Given the description of an element on the screen output the (x, y) to click on. 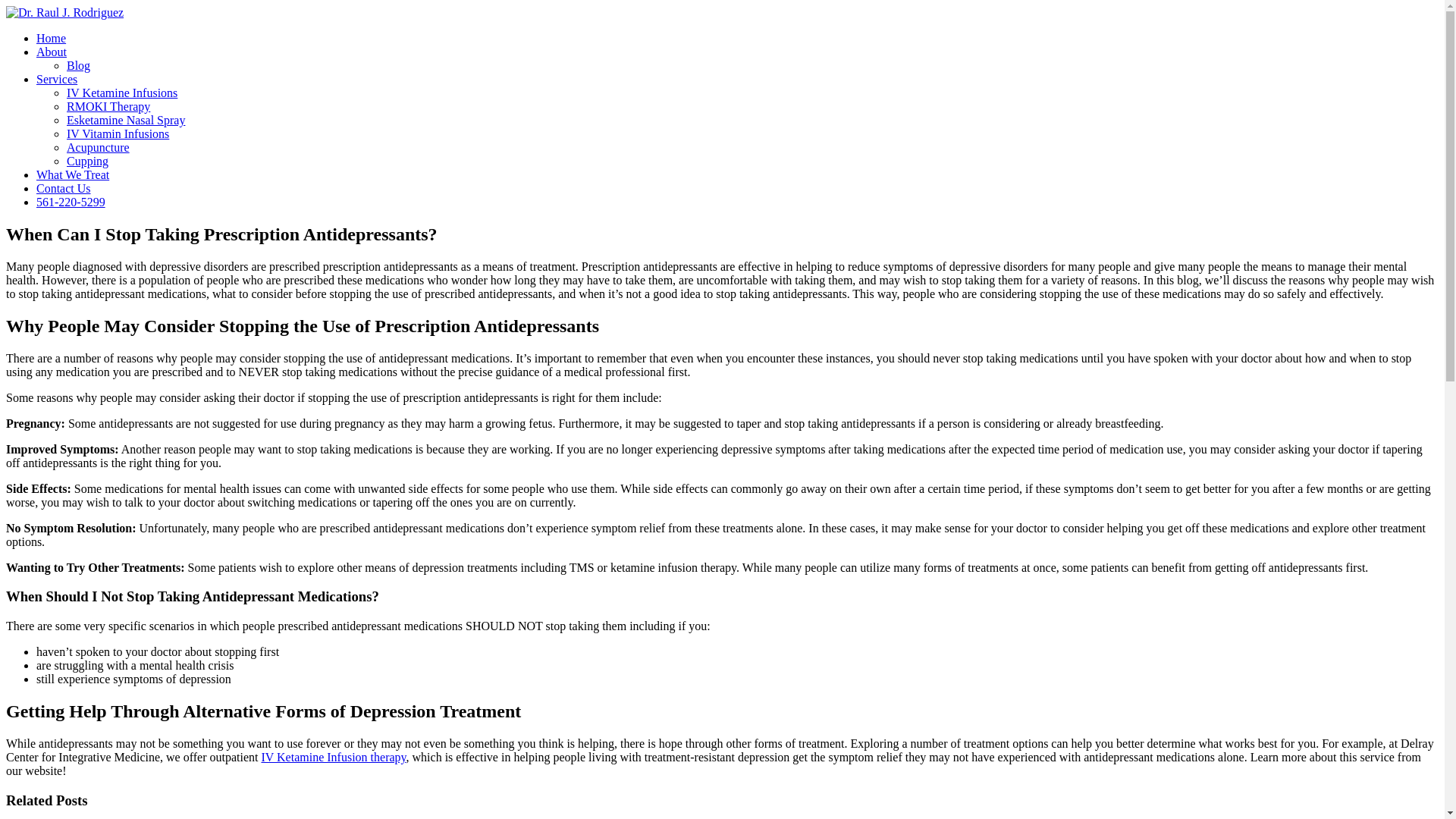
IV Ketamine Infusion therapy (333, 757)
Blog (78, 65)
IV Vitamin Infusions (117, 133)
About (51, 51)
561-220-5299 (70, 201)
What We Treat (72, 174)
Cupping (86, 160)
RMOKI Therapy (107, 106)
Dr. Raul J. Rodriguez (64, 11)
Services (56, 78)
Home (50, 38)
IV Ketamine Infusions (121, 92)
Acupuncture (97, 146)
Esketamine Nasal Spray (125, 119)
Contact Us (63, 187)
